Given the description of an element on the screen output the (x, y) to click on. 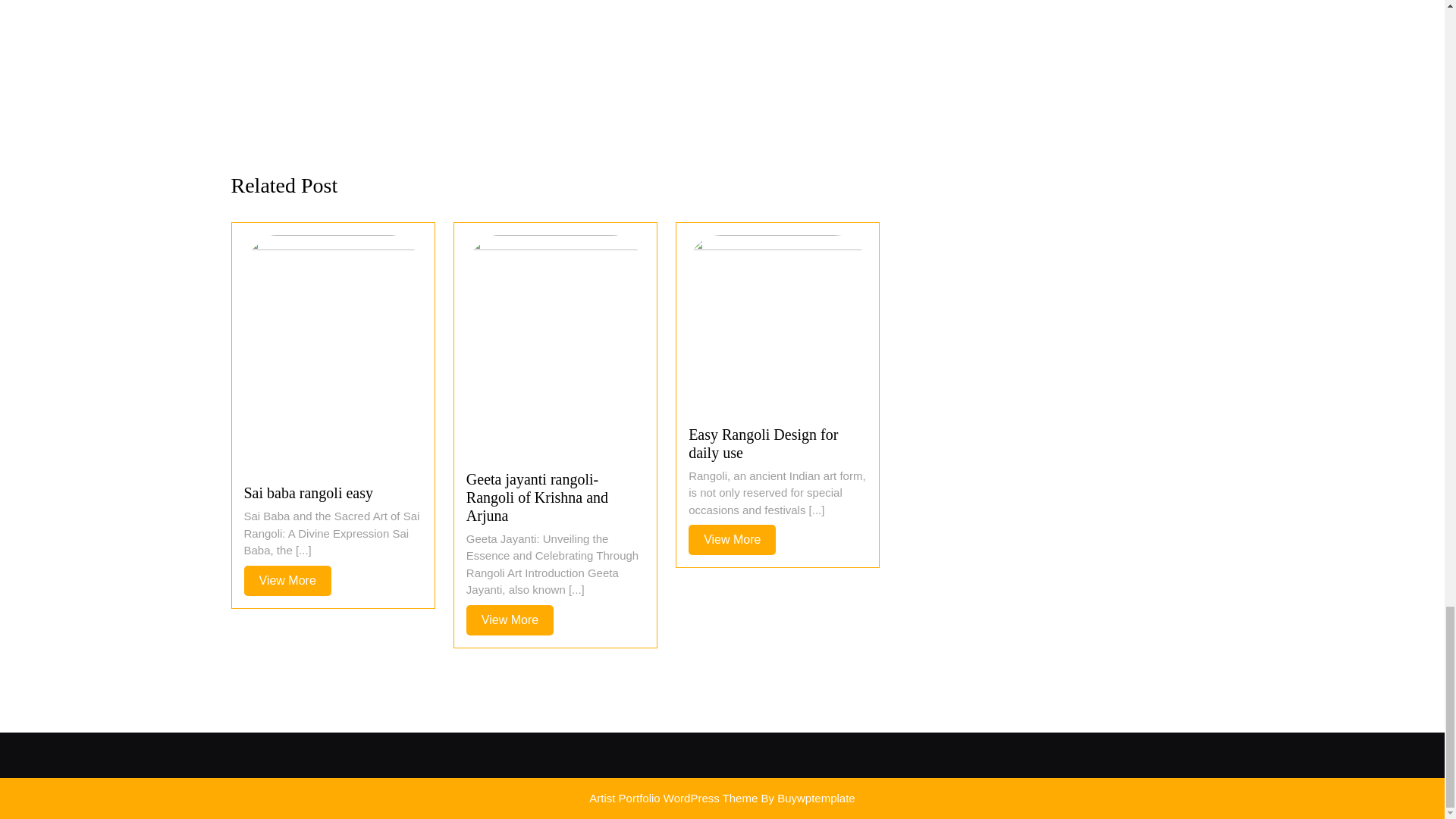
Artist Portfolio WordPress Theme (287, 580)
